Given the description of an element on the screen output the (x, y) to click on. 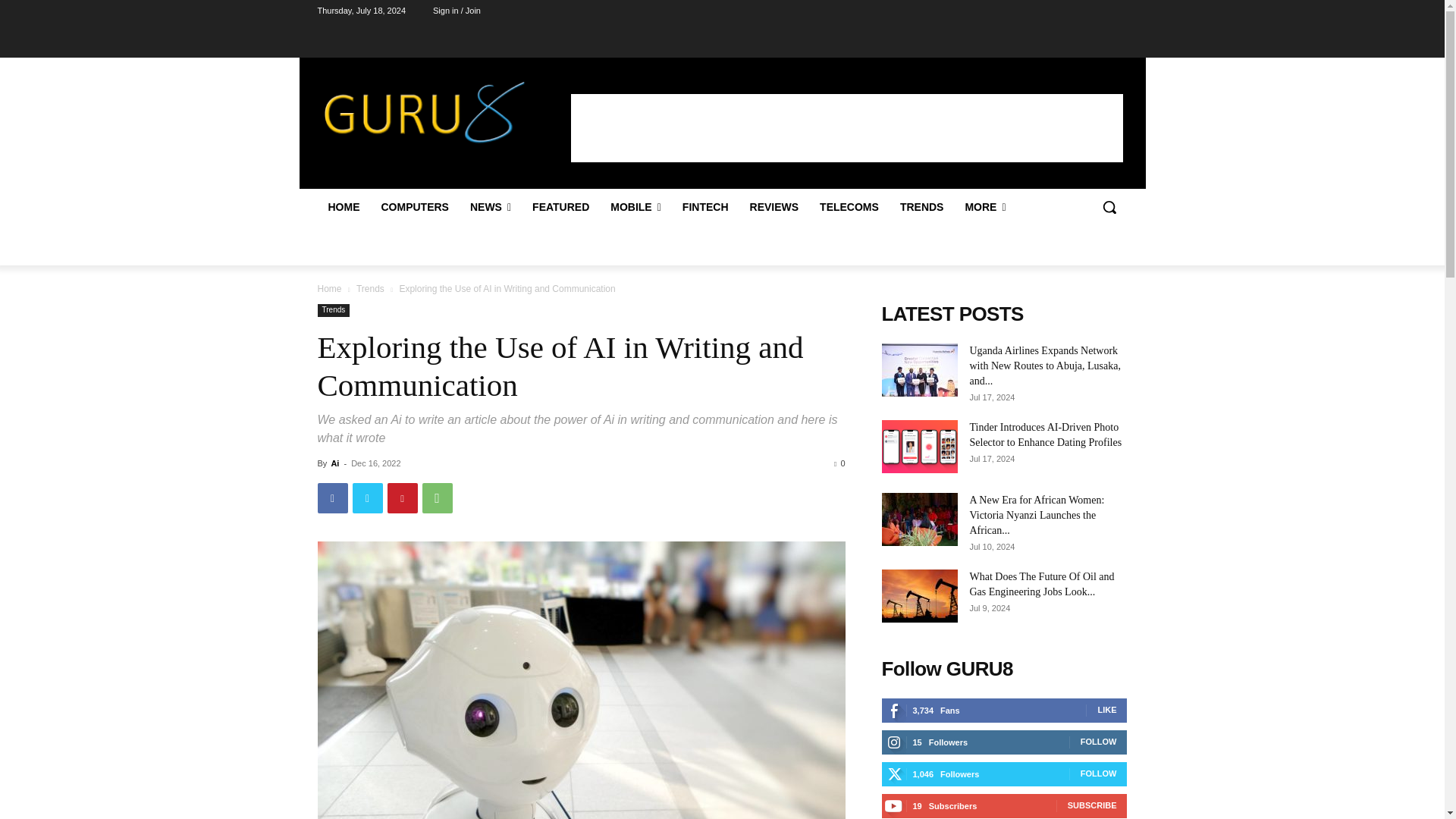
NEWS (490, 207)
HOME (343, 207)
Twitter (366, 498)
FEATURED (560, 207)
Facebook (332, 498)
Advertisement (846, 128)
FINTECH (705, 207)
WhatsApp (436, 498)
View all posts in Trends (370, 288)
COMPUTERS (413, 207)
Pinterest (401, 498)
MOBILE (635, 207)
